Given the description of an element on the screen output the (x, y) to click on. 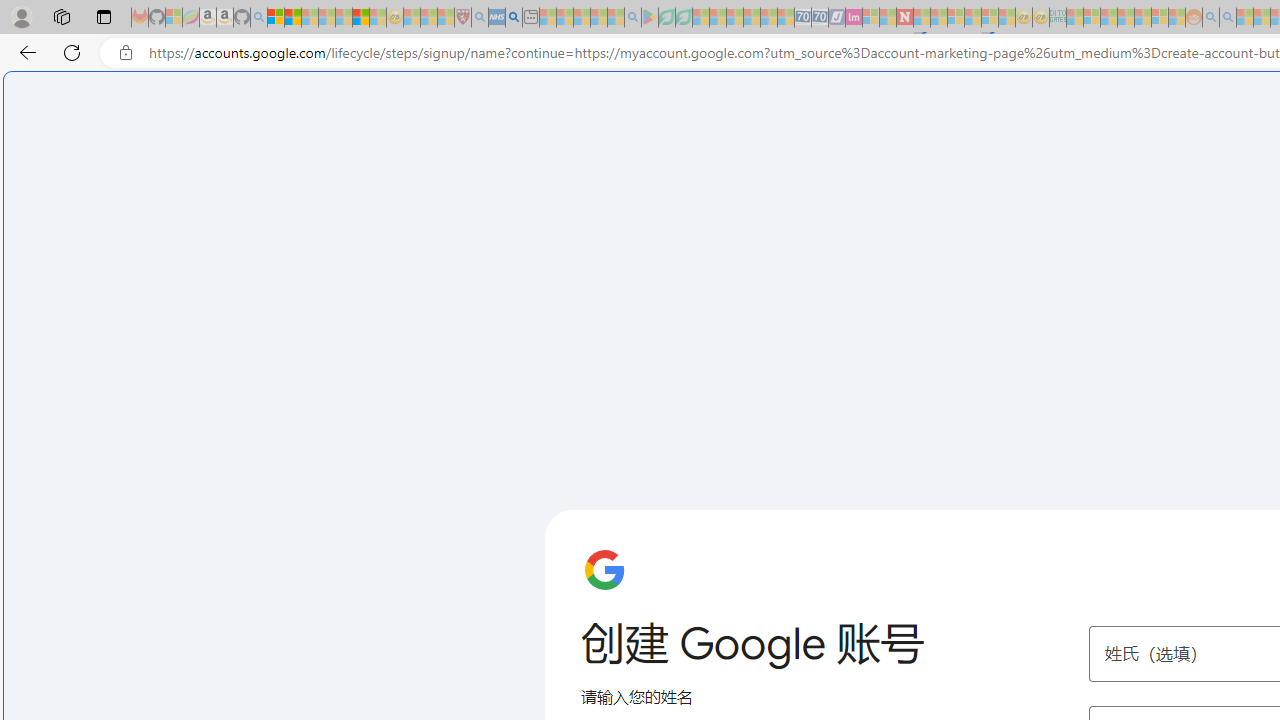
Pets - MSN - Sleeping (598, 17)
